Given the description of an element on the screen output the (x, y) to click on. 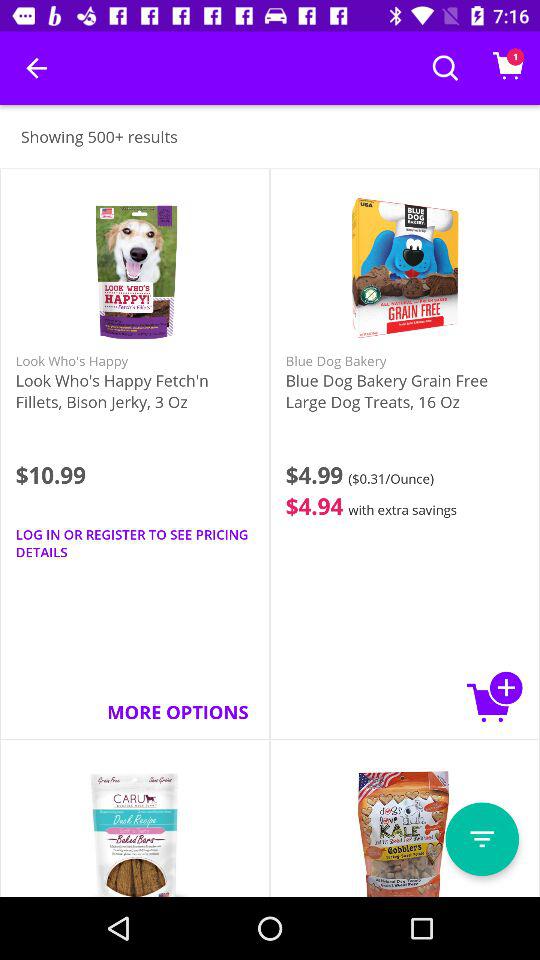
click icon next to the more options item (495, 696)
